Given the description of an element on the screen output the (x, y) to click on. 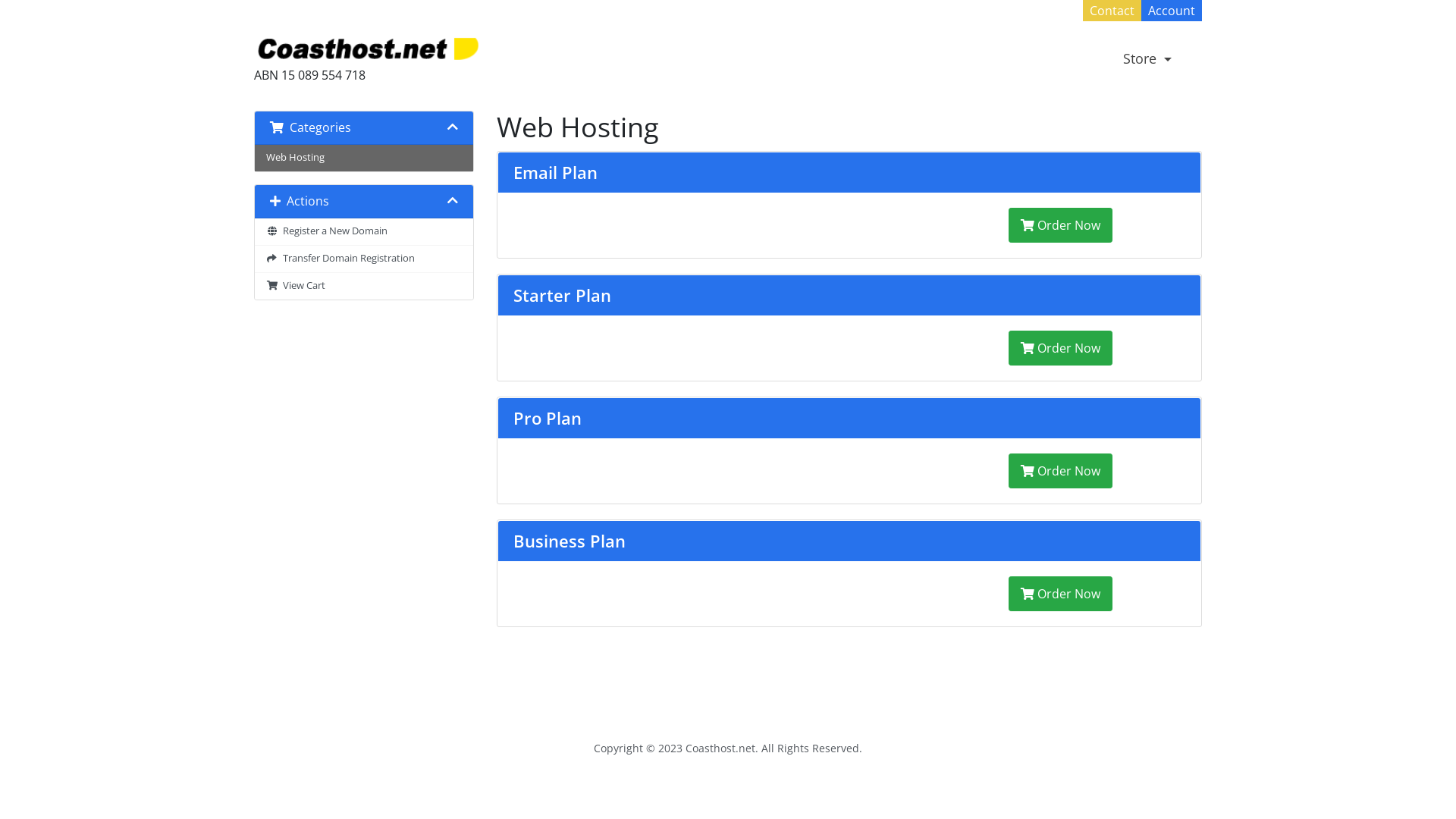
  Register a New Domain Element type: text (363, 231)
Contact Element type: text (1111, 10)
Order Now Element type: text (1060, 470)
Account Element type: text (1171, 10)
Web Hosting Element type: text (363, 157)
Order Now Element type: text (1060, 224)
Store Element type: text (1150, 57)
Order Now Element type: text (1060, 347)
  View Cart Element type: text (363, 286)
Order Now Element type: text (1060, 593)
  Transfer Domain Registration Element type: text (363, 259)
